Given the description of an element on the screen output the (x, y) to click on. 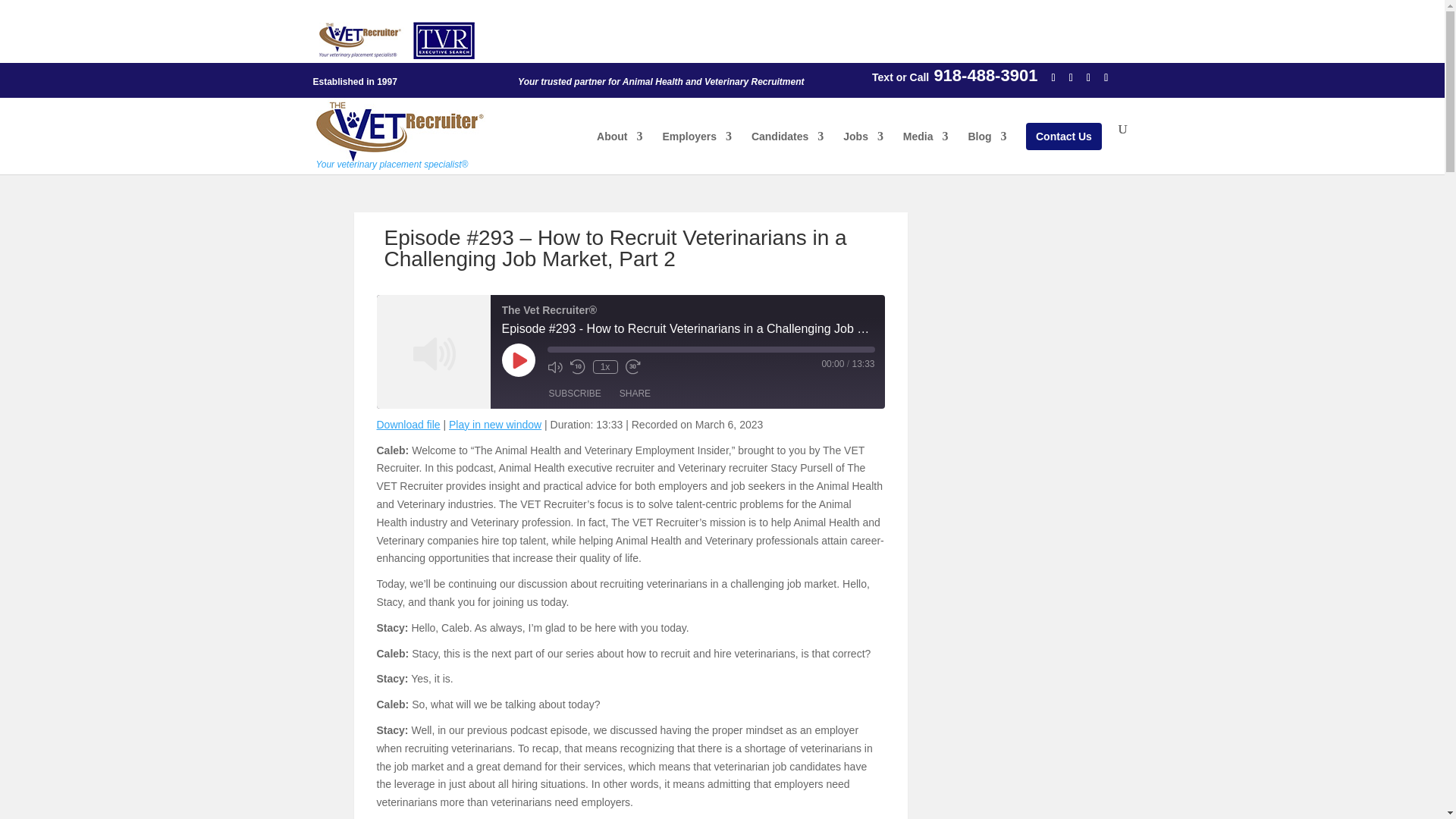
Rewind 10 seconds (577, 366)
Text (882, 77)
About (619, 149)
Call (920, 77)
Play (518, 359)
Fast Forward 30 seconds (632, 366)
Subscribe (574, 393)
Seek (711, 349)
Share (634, 393)
Employers (697, 149)
Playback Speed (604, 366)
